Given the description of an element on the screen output the (x, y) to click on. 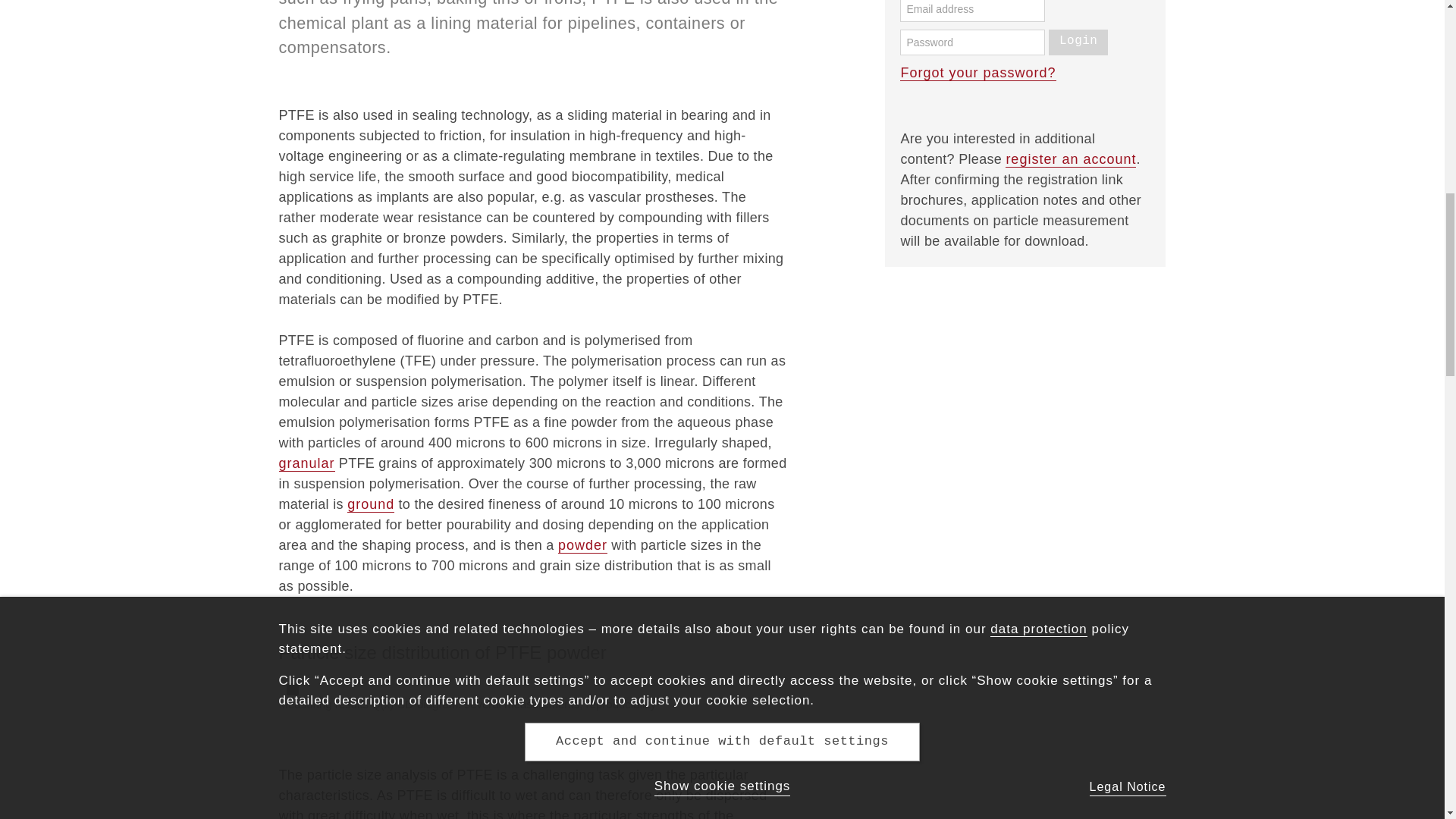
Login (1078, 42)
